Given the description of an element on the screen output the (x, y) to click on. 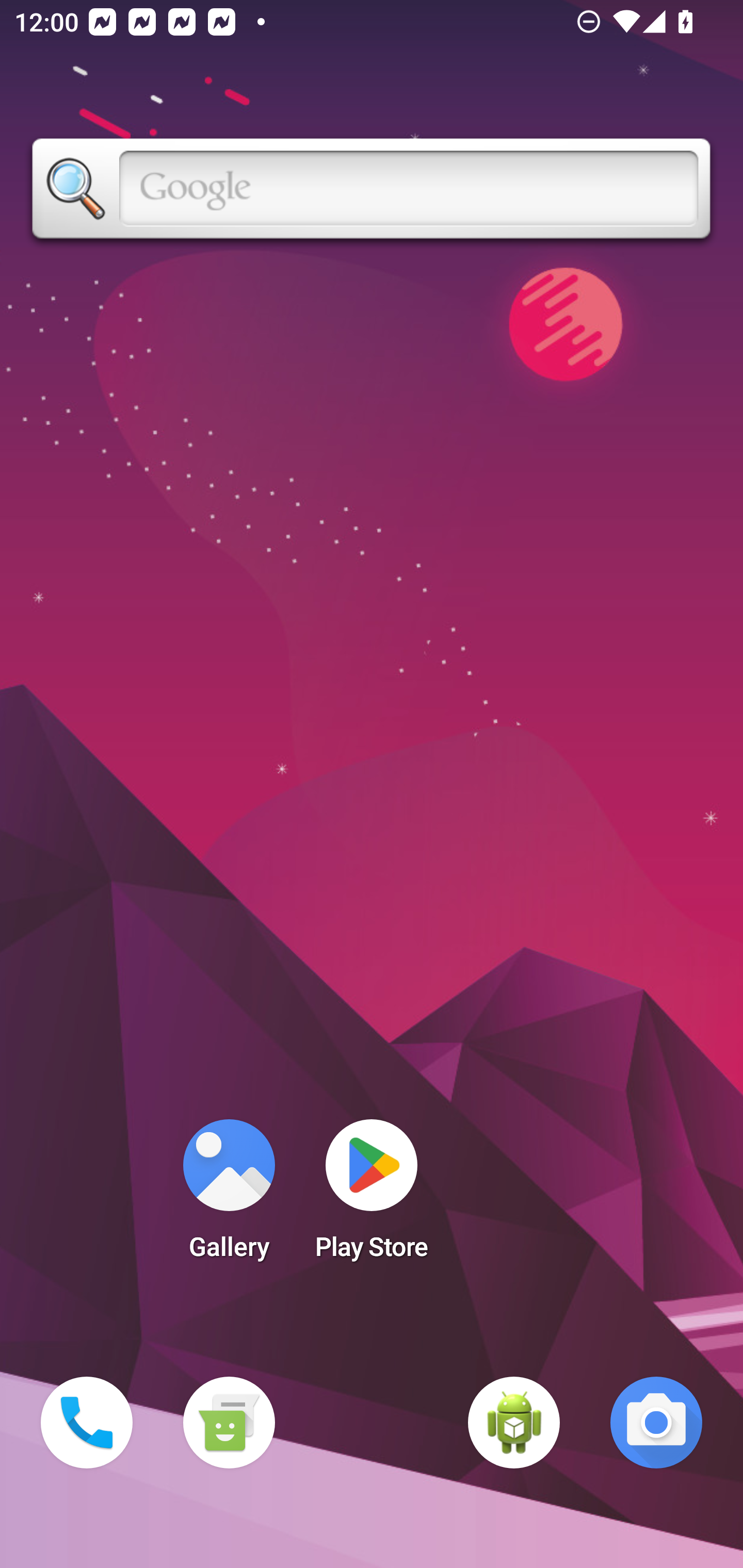
Gallery (228, 1195)
Play Store (371, 1195)
Phone (86, 1422)
Messaging (228, 1422)
WebView Browser Tester (513, 1422)
Camera (656, 1422)
